Given the description of an element on the screen output the (x, y) to click on. 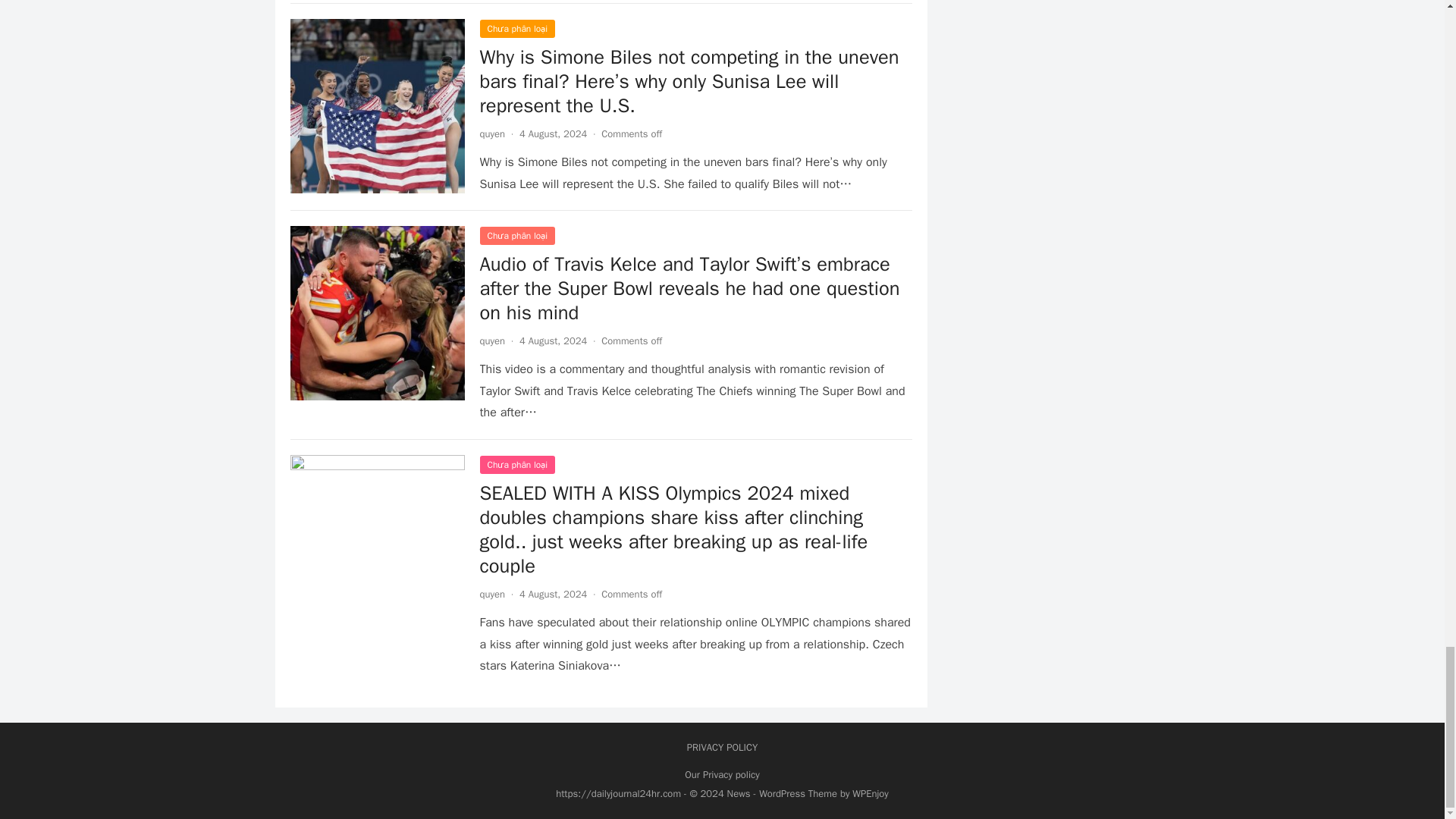
Posts by quyen (492, 594)
Posts by quyen (492, 133)
Posts by quyen (492, 340)
